Given the description of an element on the screen output the (x, y) to click on. 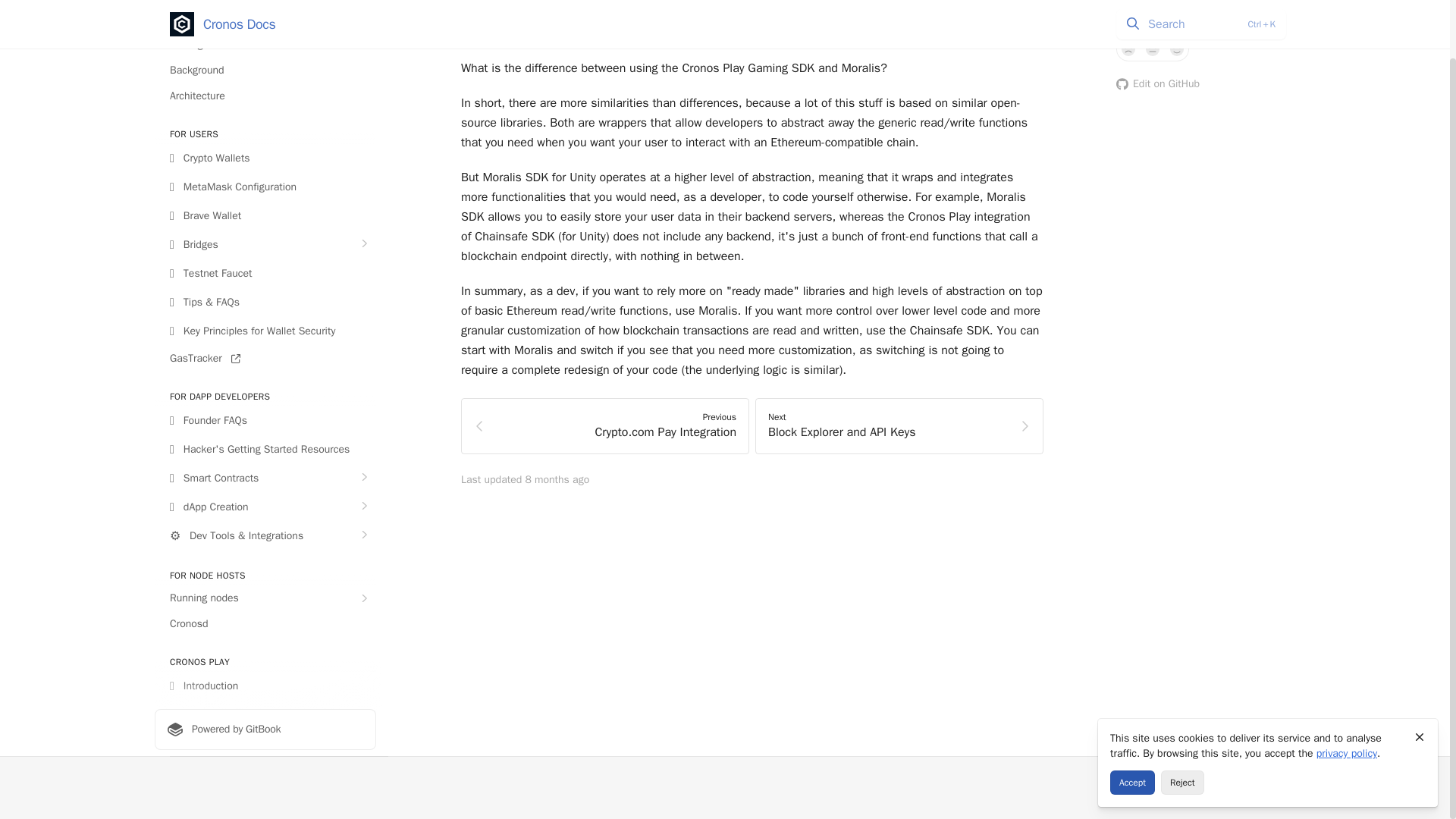
No (1128, 48)
Background (264, 70)
GasTracker (264, 358)
Getting Started (264, 44)
Not sure (1152, 48)
Yes, it was! (1176, 48)
Close (1419, 674)
Architecture (264, 96)
